Given the description of an element on the screen output the (x, y) to click on. 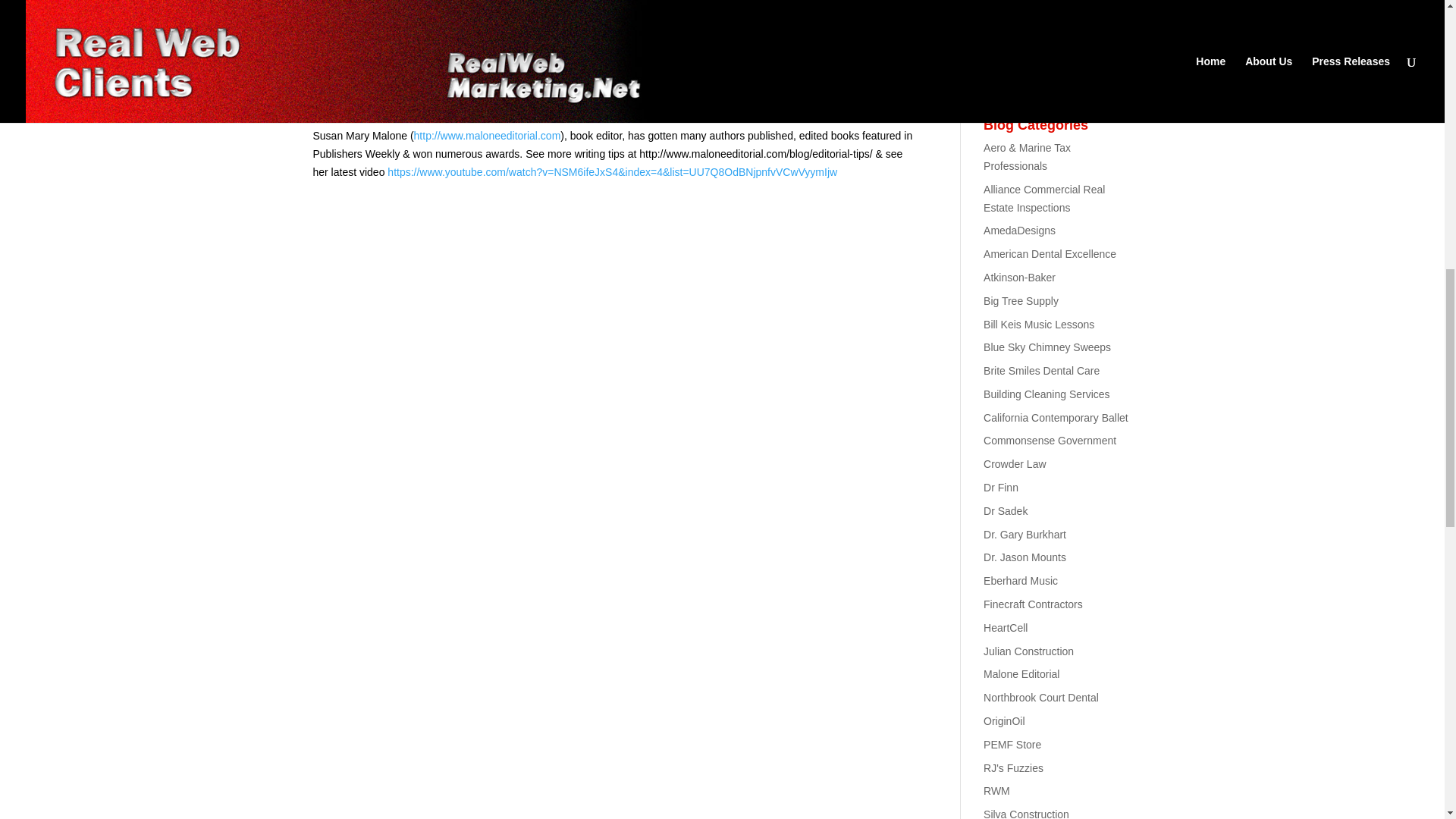
Dr Finn (1000, 487)
Eberhard Music (1021, 580)
Dr. Jason Mounts (1024, 557)
California Contemporary Ballet (1056, 417)
AmedaDesigns (1019, 230)
Privacy Policy (1088, 8)
Commonsense Government (1050, 440)
Northbrook Court Dental (1041, 697)
Brite Smiles Dental Care (1041, 370)
Finecraft Contractors (1033, 604)
HeartCell (1005, 627)
Malone Editorial (1021, 674)
Building Cleaning Services (1046, 394)
novel editing services (600, 22)
PEMF Store (1012, 744)
